Given the description of an element on the screen output the (x, y) to click on. 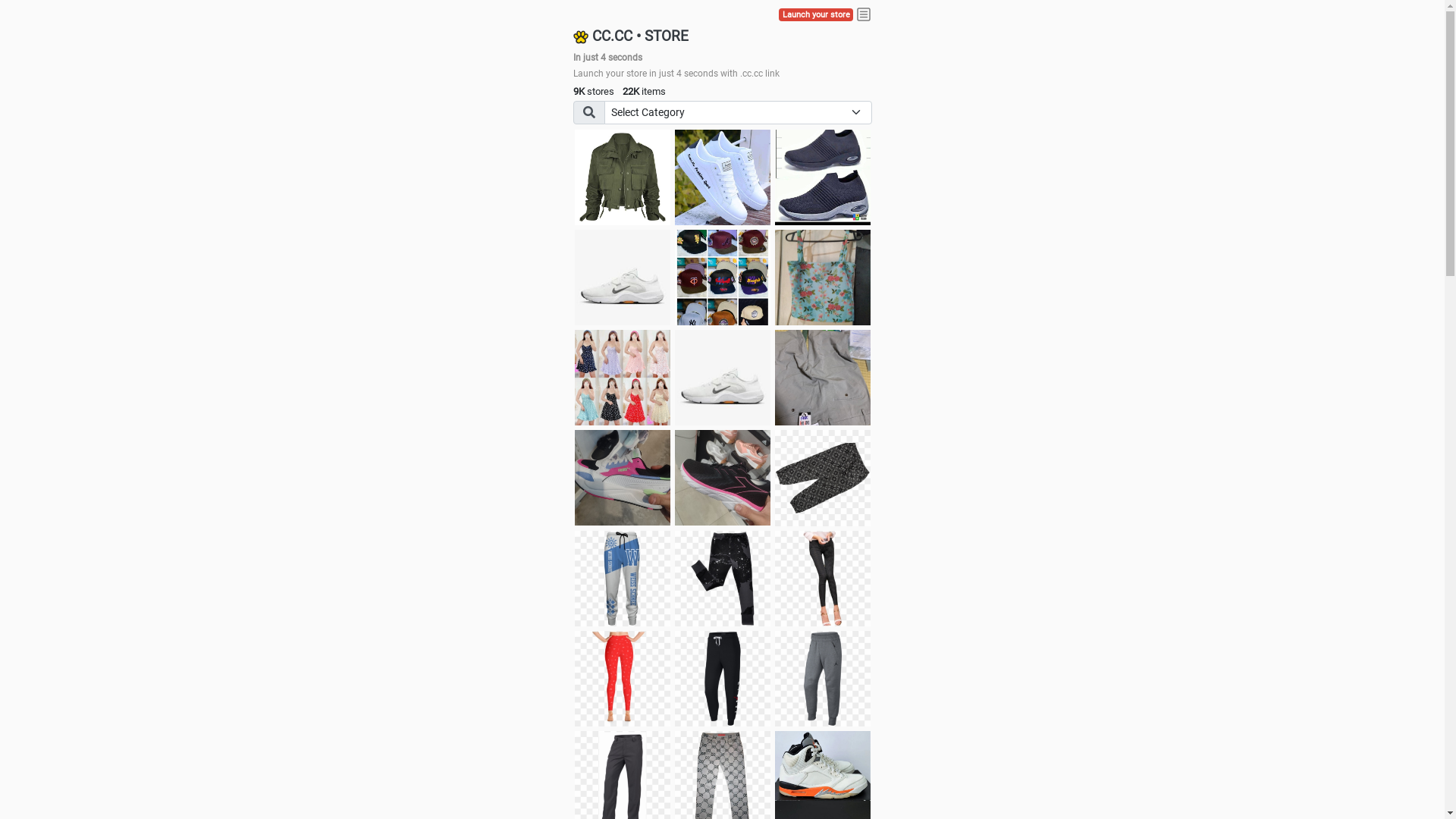
Ukay cloth Element type: hover (822, 277)
Launch your store Element type: text (815, 14)
Pant Element type: hover (822, 578)
Pant Element type: hover (722, 578)
Short pant Element type: hover (822, 477)
Shoes Element type: hover (722, 377)
jacket Element type: hover (622, 177)
Zapatillas pumas Element type: hover (622, 477)
Dress/square nect top Element type: hover (622, 377)
shoes for boys Element type: hover (822, 177)
Pant Element type: hover (822, 678)
white shoes Element type: hover (722, 177)
Pant Element type: hover (722, 678)
Zapatillas Element type: hover (722, 477)
Pant Element type: hover (622, 678)
Shoes for boys Element type: hover (622, 277)
Pant Element type: hover (622, 578)
Things we need Element type: hover (722, 277)
